Given the description of an element on the screen output the (x, y) to click on. 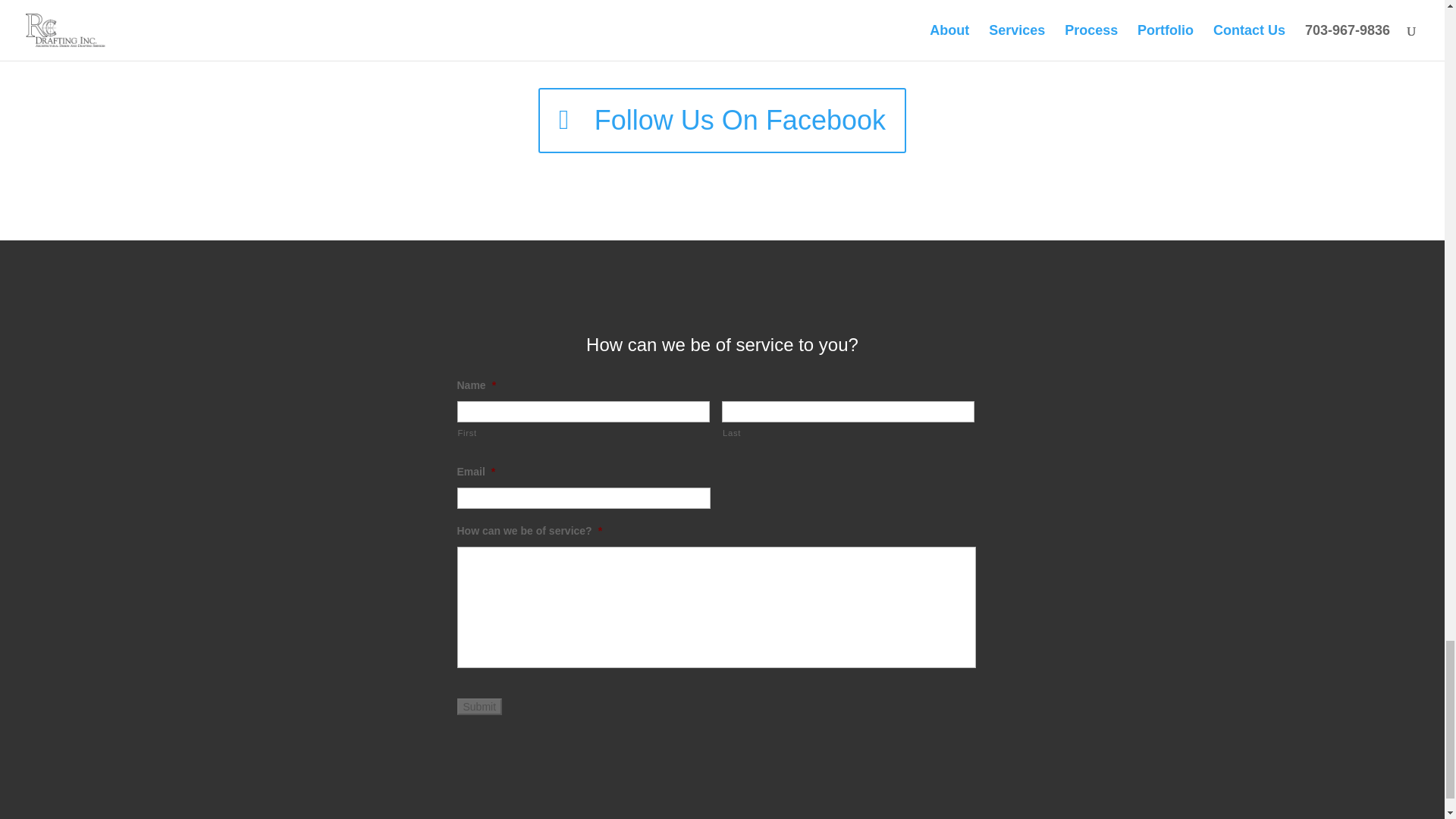
Follow Us On Facebook (721, 120)
Submit (479, 706)
Submit (479, 706)
